Given the description of an element on the screen output the (x, y) to click on. 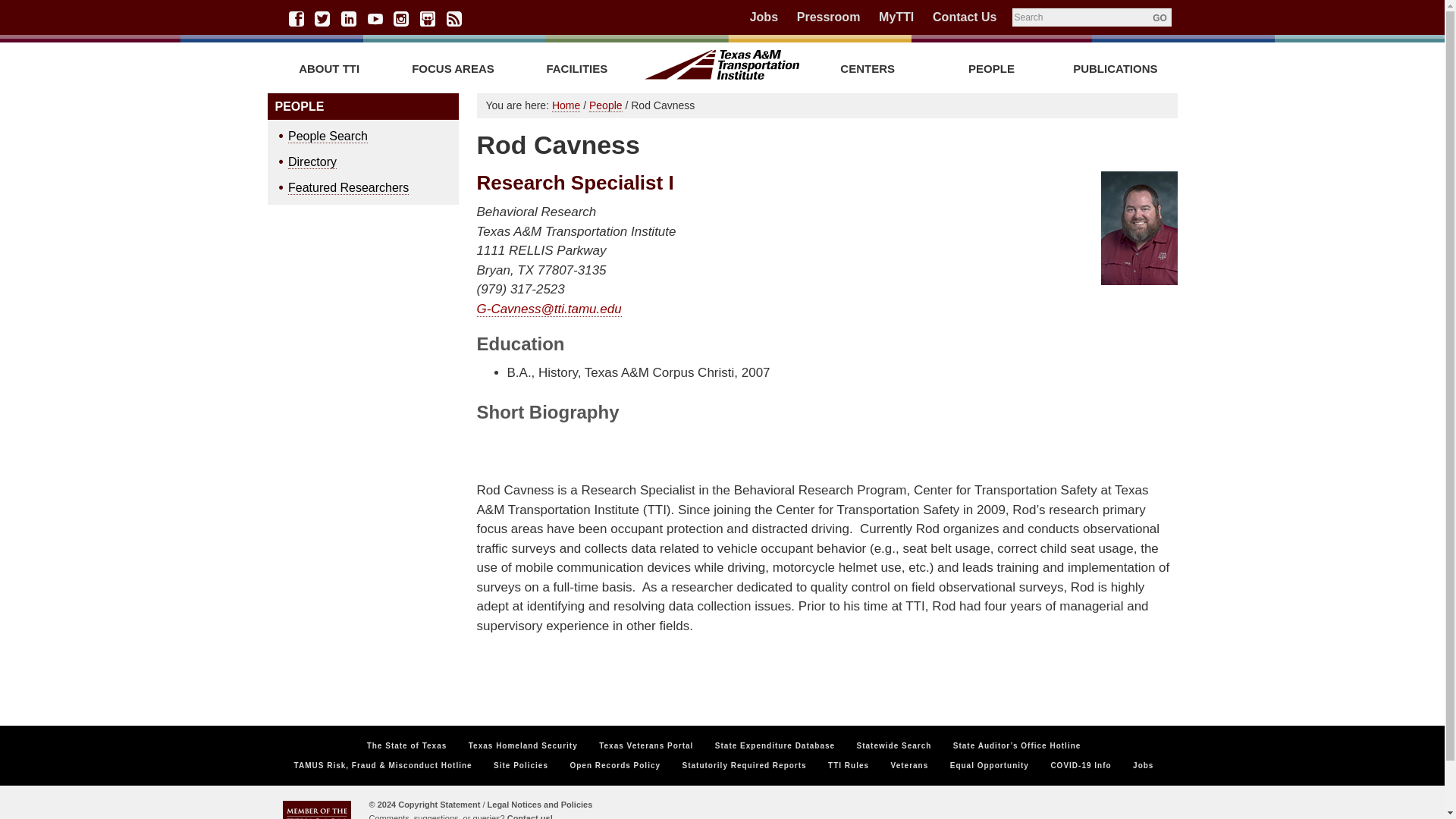
LinkedIn (348, 18)
Instagram (401, 18)
TTI SlideShare (427, 18)
TTI YouTube (375, 18)
SlideShare (427, 18)
Pressroom (828, 16)
FOCUS AREAS (453, 68)
ABOUT TTI (328, 68)
Facebook (295, 18)
